Given the description of an element on the screen output the (x, y) to click on. 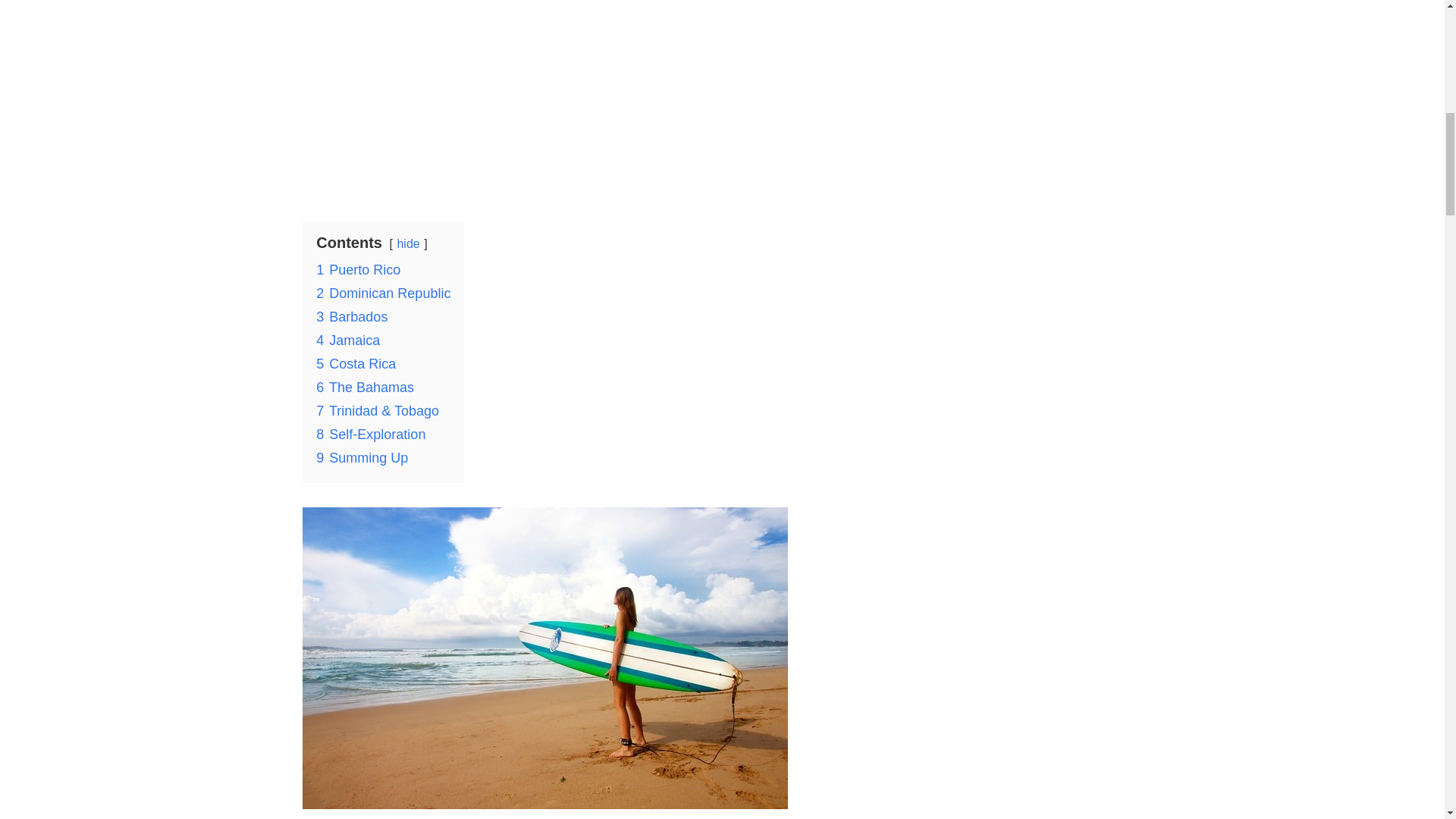
8 Self-Exploration (370, 434)
1 Puerto Rico (357, 269)
5 Costa Rica (355, 363)
2 Dominican Republic (382, 293)
4 Jamaica (347, 340)
6 The Bahamas (364, 387)
9 Summing Up (361, 458)
3 Barbados (351, 316)
hide (407, 243)
